Given the description of an element on the screen output the (x, y) to click on. 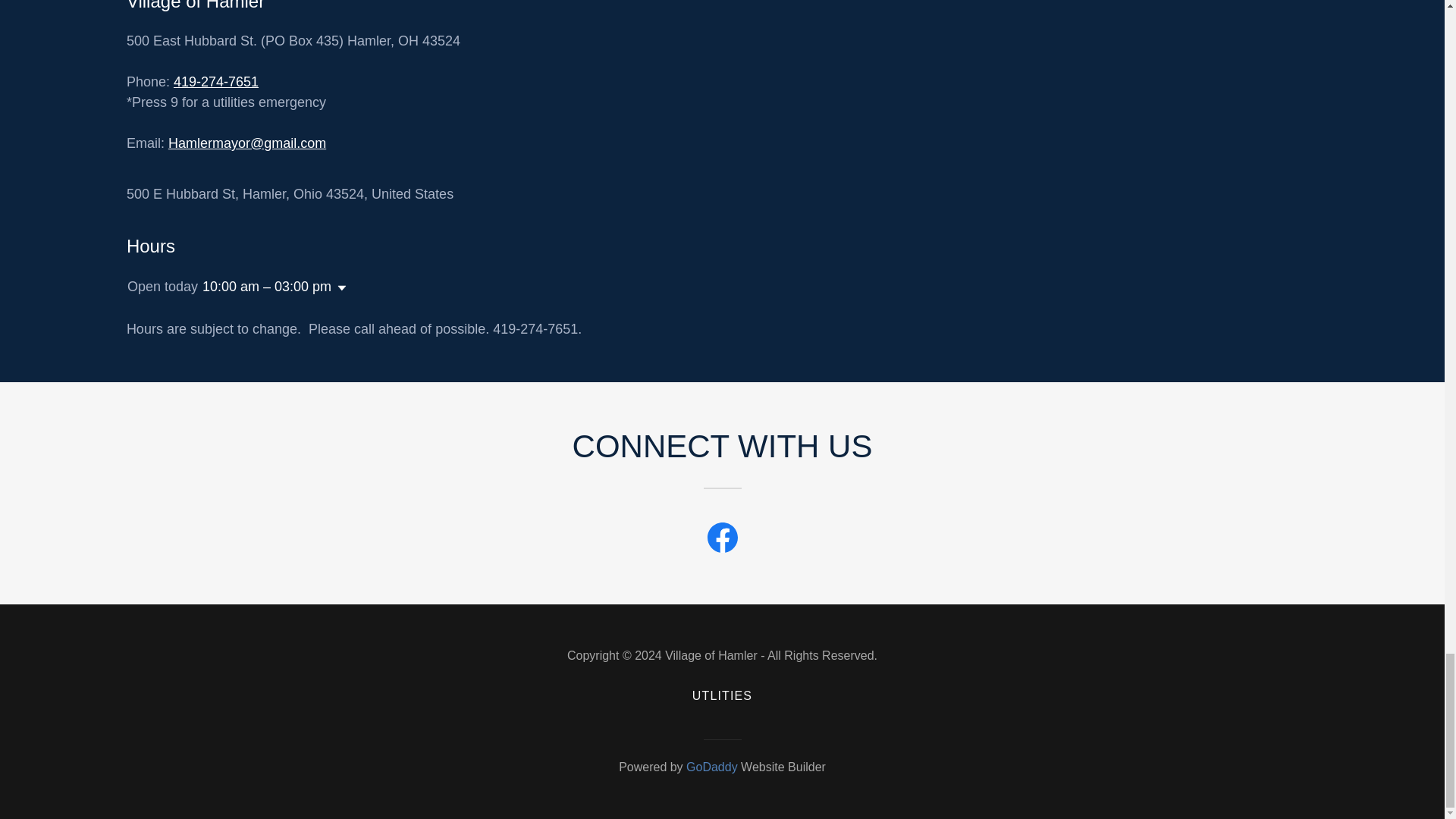
419-274-7651 (216, 81)
